Given the description of an element on the screen output the (x, y) to click on. 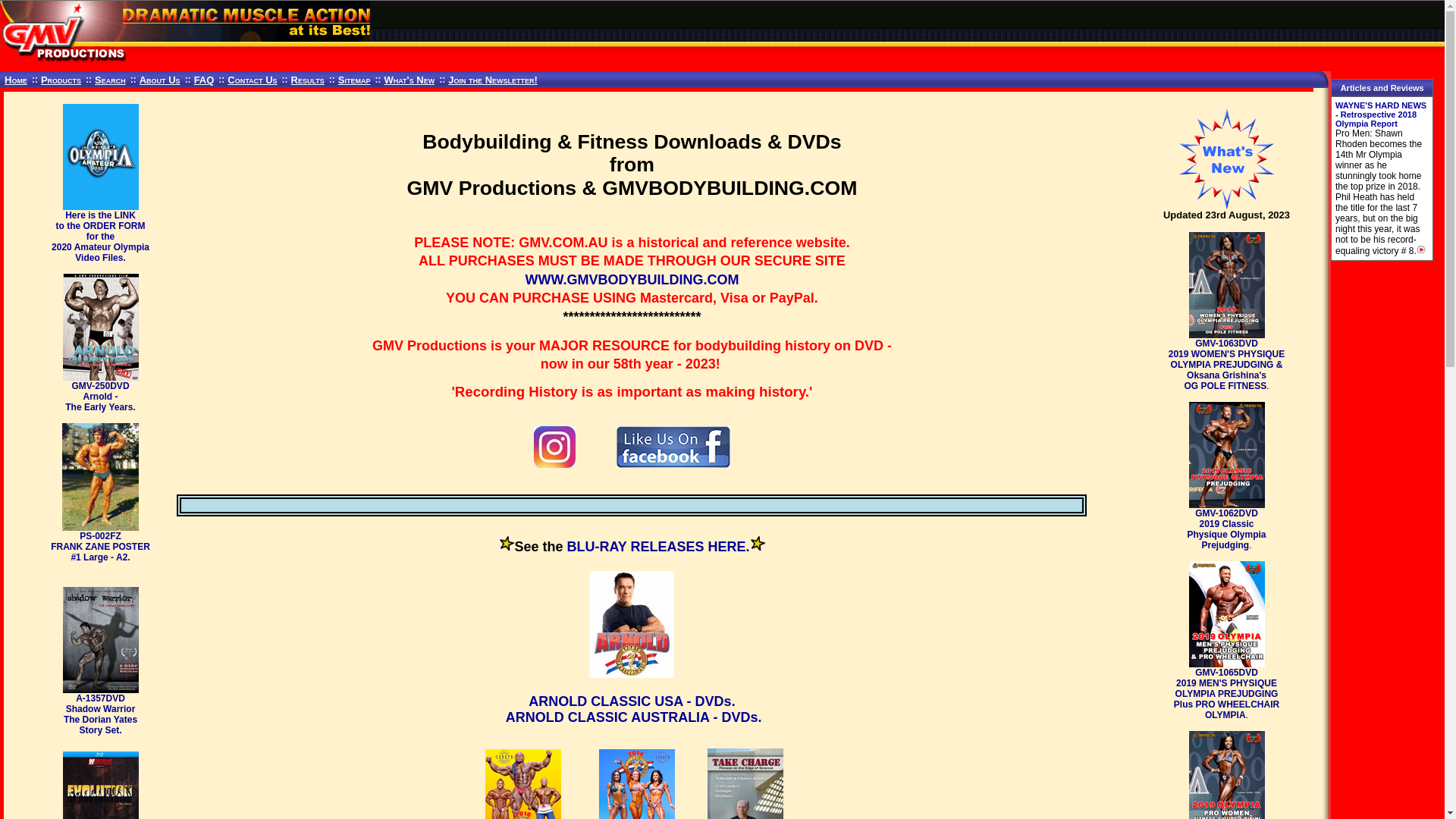
About Us Element type: text (160, 79)
Join the Newsletter! Element type: text (492, 79)
Home Element type: text (15, 79)
BLU-RAY RELEASES HERE Element type: text (655, 547)
ARNOLD CLASSIC USA - DVDs.
  Element type: text (618, 710)
FRANK ZANE POSTER #1 - Large A2 Element type: hover (100, 476)
. Element type: text (747, 547)
GMV-250DVD
Arnold -
The Early Years Element type: text (98, 396)
WAYNE'S HARD NEWS - Retrospective 2018 Olympia Report Element type: text (1380, 114)
Search Element type: text (110, 79)
What's New Element type: text (409, 79)
FAQ Element type: text (204, 79)
GMV-1062DVD
2019 Classic
Physique Olympia
Prejudging Element type: text (1225, 528)
Articles and Reviews Element type: text (1382, 87)
PS-002FZ
FRANK ZANE POSTER
#1 Large - A2 Element type: text (100, 546)
FRANK ZANE POSTER #1 - Large A2 Element type: hover (100, 475)
ARNOLD CLASSIC AUSTRALIA - DVDs. Element type: text (633, 718)
Arnold - The Early Years Element type: hover (100, 325)
Products Element type: text (60, 79)
Arnold - The Early Years Element type: hover (100, 326)
Sitemap Element type: text (354, 79)
Results Element type: text (307, 79)
WWW.GMVBODYBUILDING.COM Element type: text (631, 279)
A-1357DVD
Shadow Warrior
The Dorian Yates
Story Set Element type: text (100, 713)
2019 Classic Physique Olympia Prejudging Element type: hover (1226, 454)
2019 Classic Physique Olympia Prejudging Element type: hover (1226, 453)
Contact Us Element type: text (251, 79)
